Given the description of an element on the screen output the (x, y) to click on. 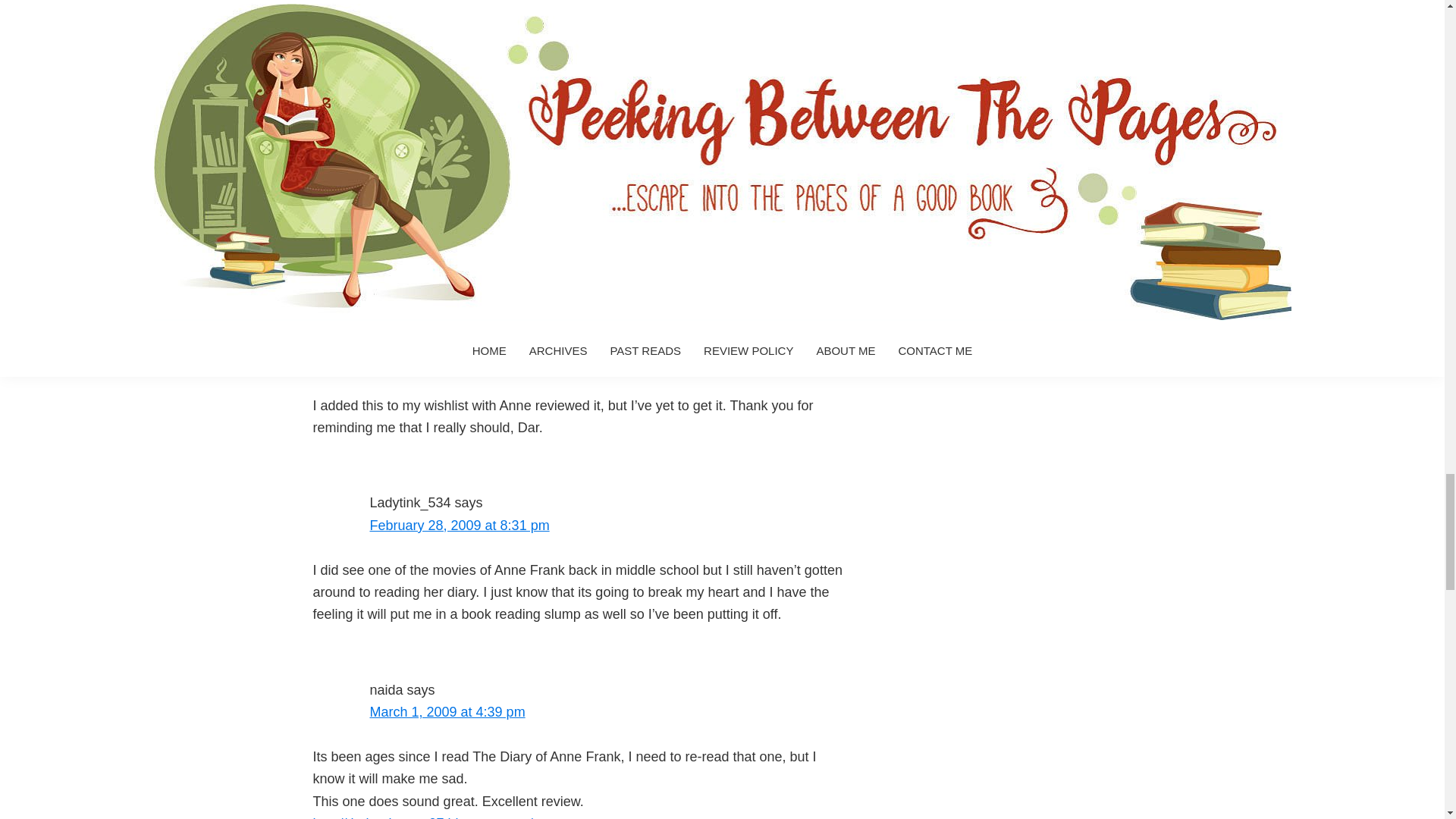
March 1, 2009 at 4:39 pm (447, 711)
February 28, 2009 at 6:20 pm (459, 196)
War Through the Generations (446, 31)
Diary of an Eccentric (375, 98)
February 28, 2009 at 8:31 pm (459, 525)
February 28, 2009 at 8:24 pm (459, 360)
